Given the description of an element on the screen output the (x, y) to click on. 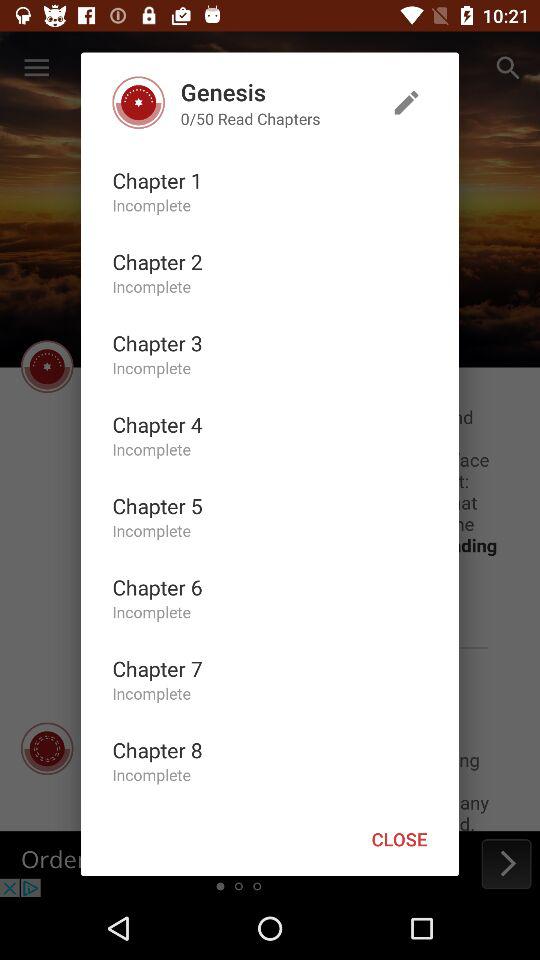
edit your list of chapters (406, 102)
